Given the description of an element on the screen output the (x, y) to click on. 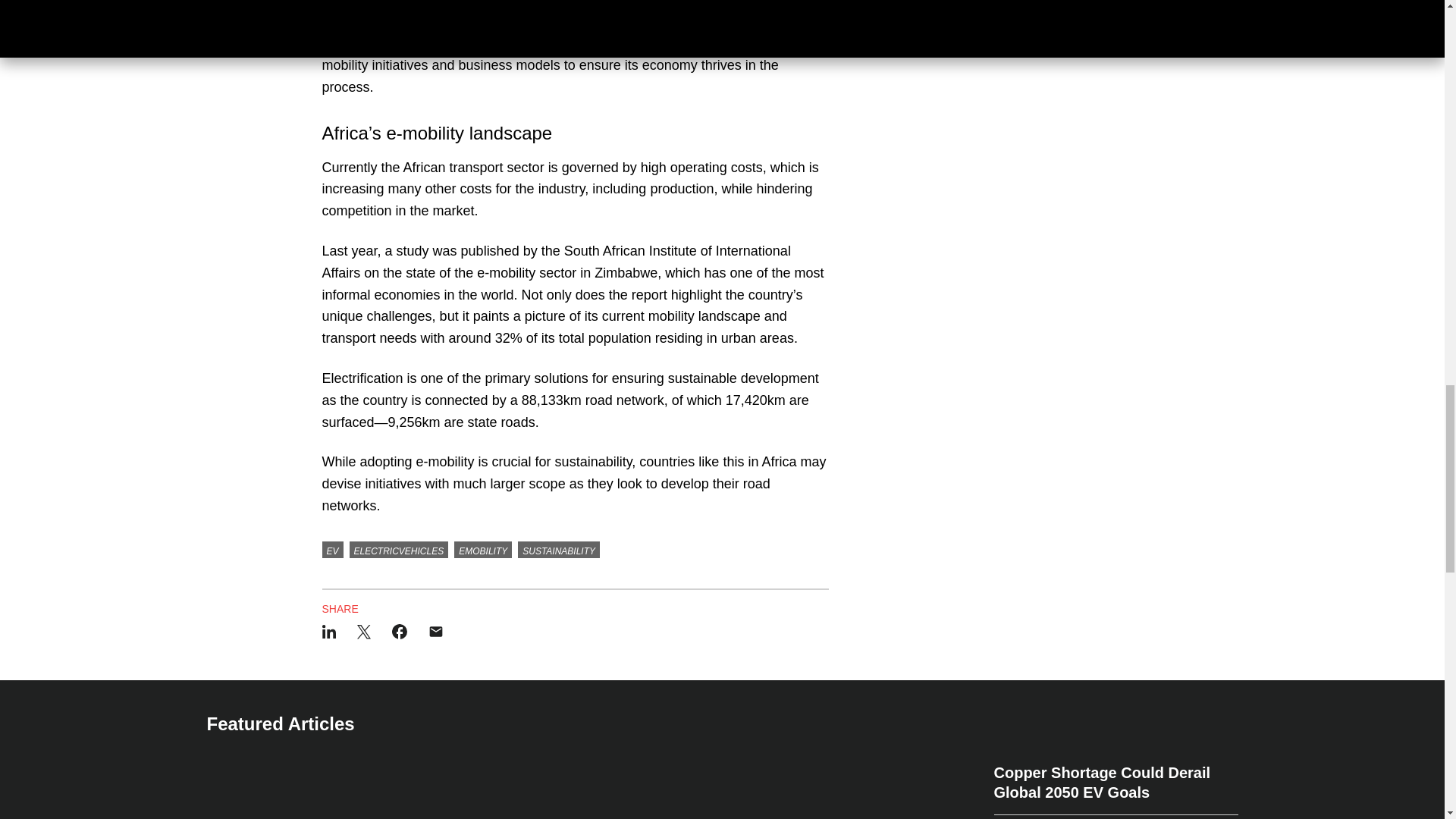
EMOBILITY (483, 549)
Copper Shortage Could Derail Global 2050 EV Goals (1114, 788)
ELECTRICVEHICLES (398, 549)
EV (331, 549)
SUSTAINABILITY (558, 549)
